Given the description of an element on the screen output the (x, y) to click on. 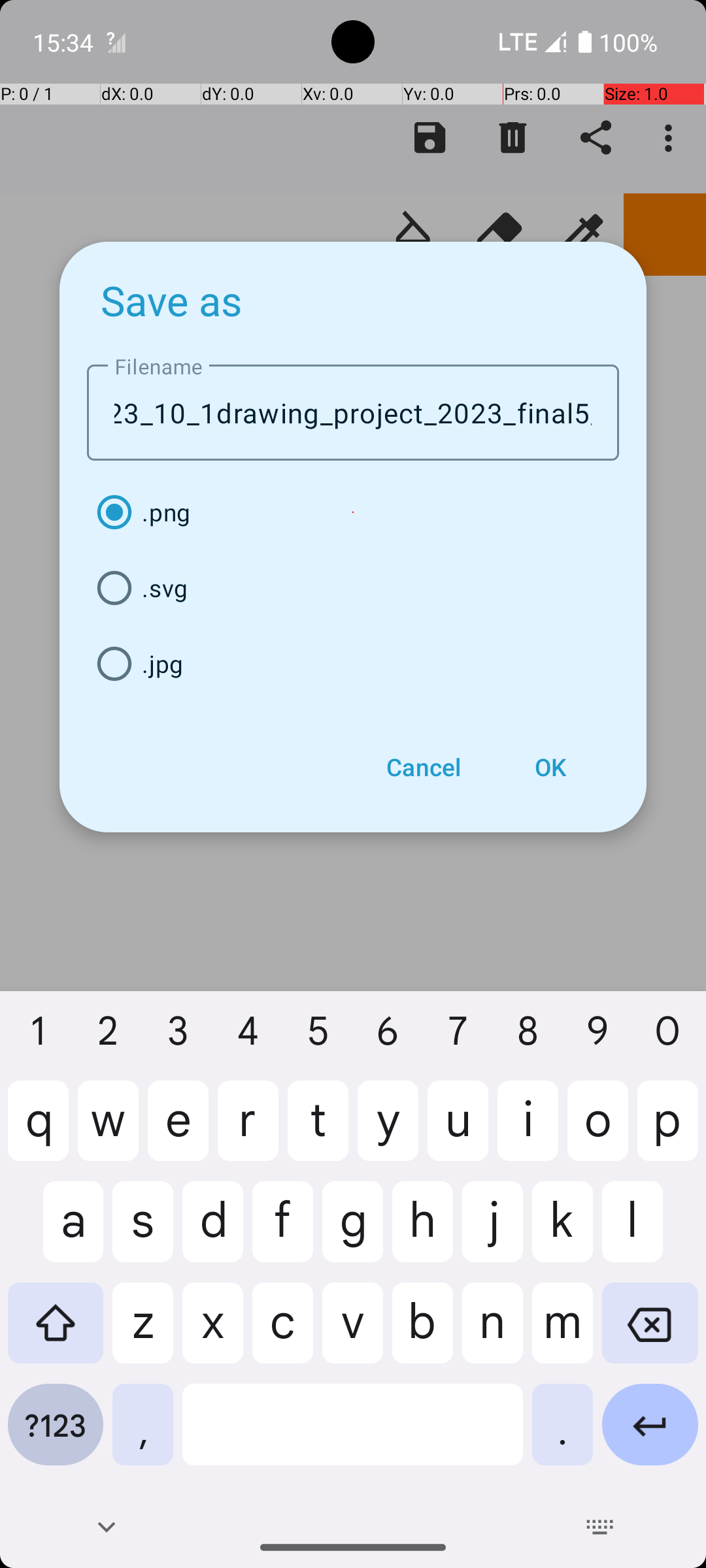
Save as Element type: android.widget.TextView (171, 299)
image_2023_10_1drawing_project_2023_final5_15_34_07 Element type: android.widget.EditText (352, 412)
.png Element type: android.widget.RadioButton (352, 512)
.svg Element type: android.widget.RadioButton (352, 587)
.jpg Element type: android.widget.RadioButton (352, 663)
